Given the description of an element on the screen output the (x, y) to click on. 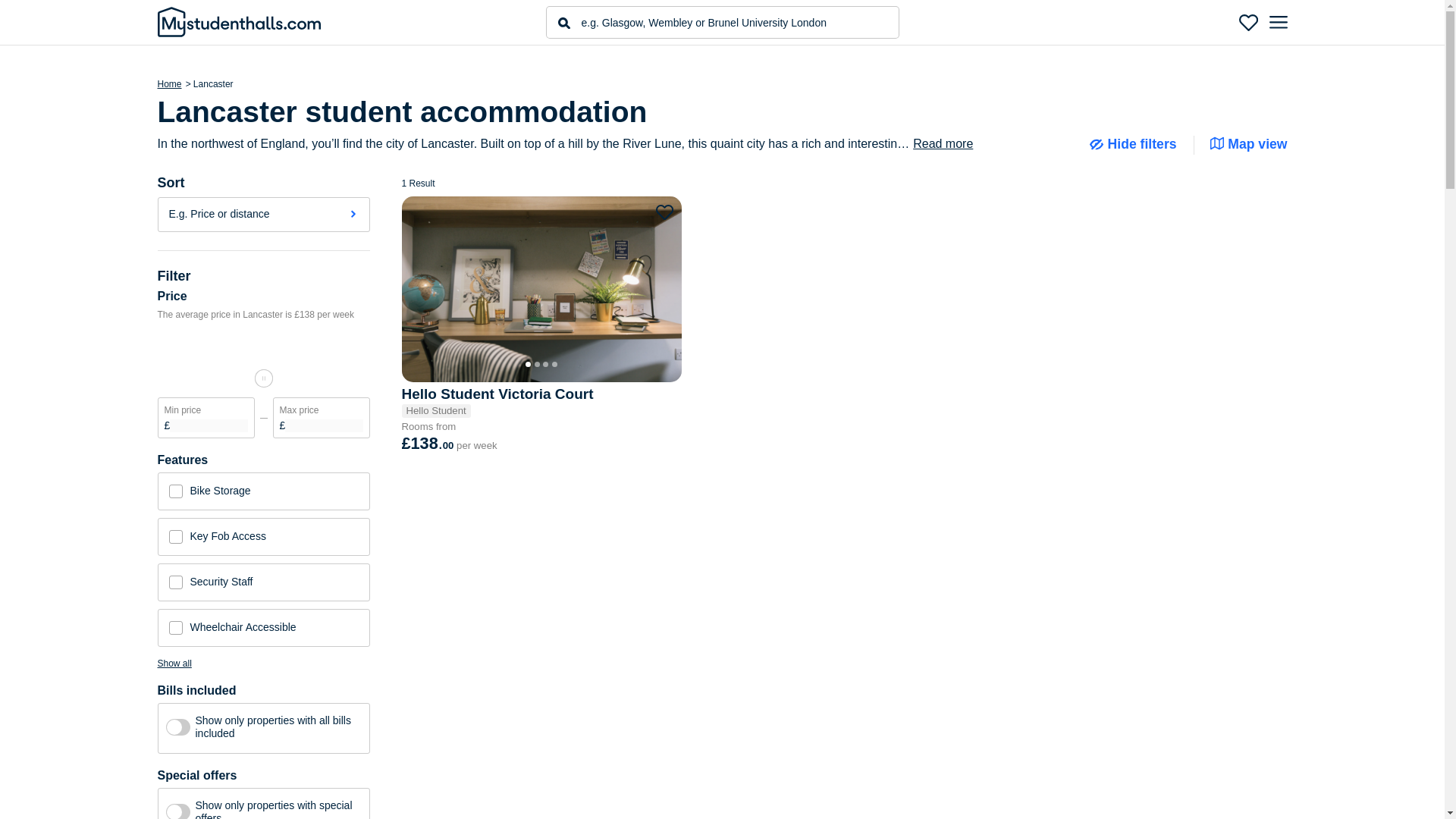
key-fob (175, 536)
138 (263, 380)
wheelchair (175, 627)
1 (177, 811)
bike (175, 490)
138 (263, 380)
1 (177, 727)
security (175, 581)
